Given the description of an element on the screen output the (x, y) to click on. 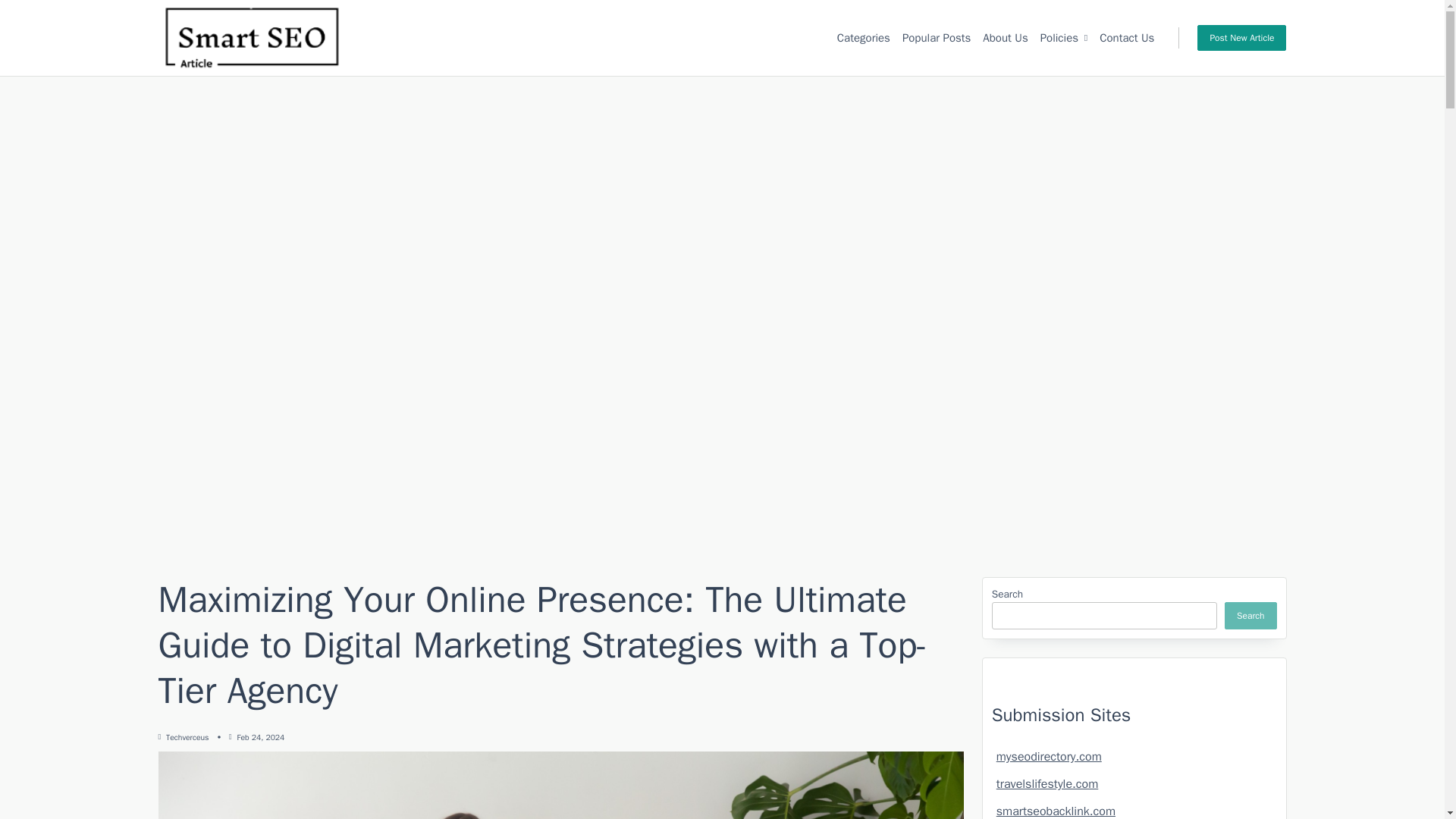
Popular Posts (936, 37)
Contact Us (1126, 37)
Advertisement (1134, 608)
Techverceus (1240, 37)
Feb 24, 2024 (186, 737)
About Us (259, 737)
Categories (1004, 37)
Policies (863, 37)
